Given the description of an element on the screen output the (x, y) to click on. 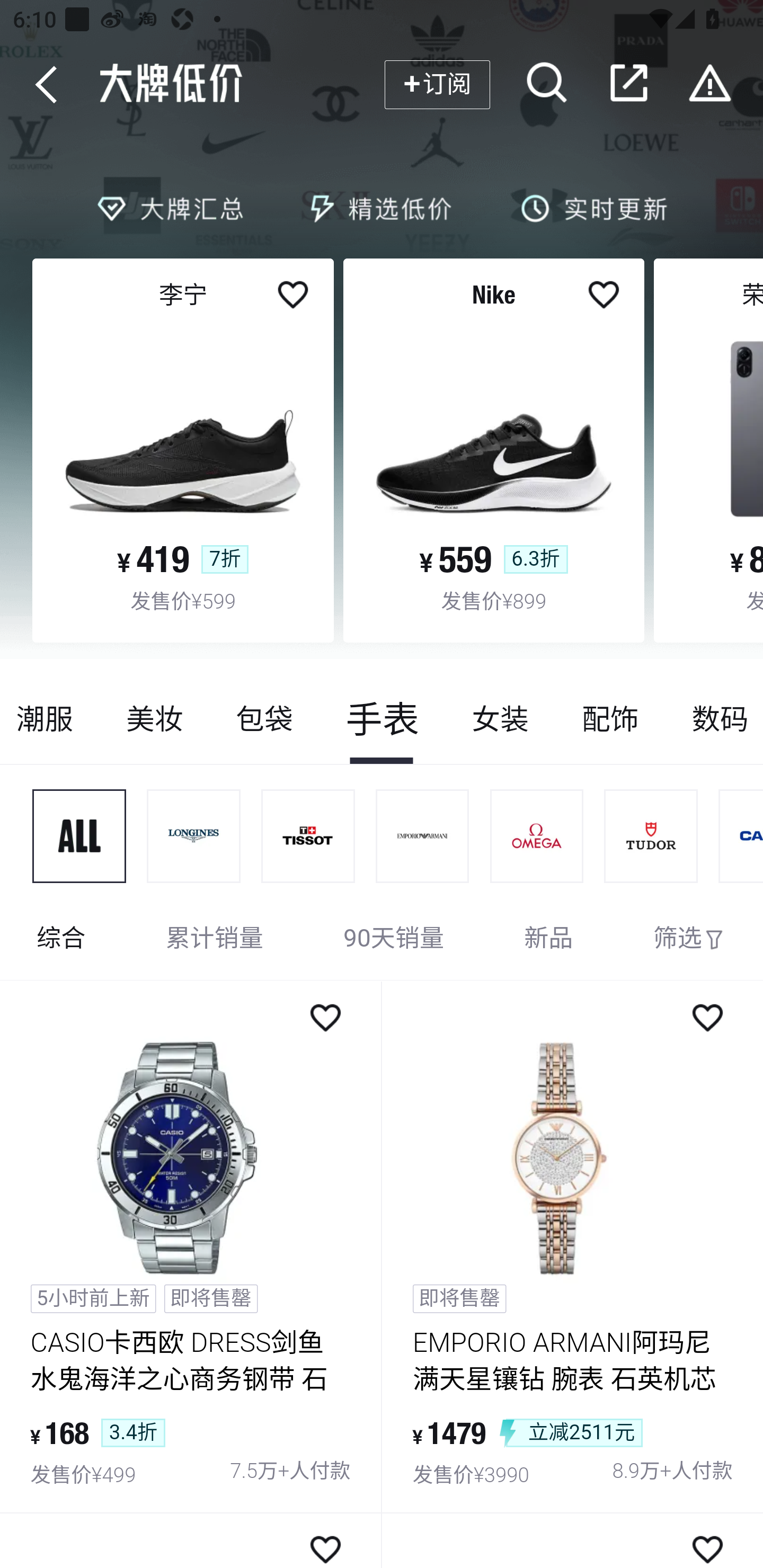
李宁 img ¥  419 7折 发售价¥599 (183, 449)
Nike img ¥  559 6.3折 发售价¥899 (493, 449)
潮服 (49, 719)
美妆 (153, 719)
包袋 (263, 719)
手表 (382, 719)
女装 (500, 719)
配饰 (610, 719)
数码 (713, 719)
img (79, 836)
img (193, 836)
img (308, 836)
img (422, 836)
img (537, 836)
img (651, 836)
综合 (60, 939)
累计销量 (214, 939)
90天销量 (393, 939)
新品 (547, 939)
筛选 resize,w_750 (688, 939)
